Given the description of an element on the screen output the (x, y) to click on. 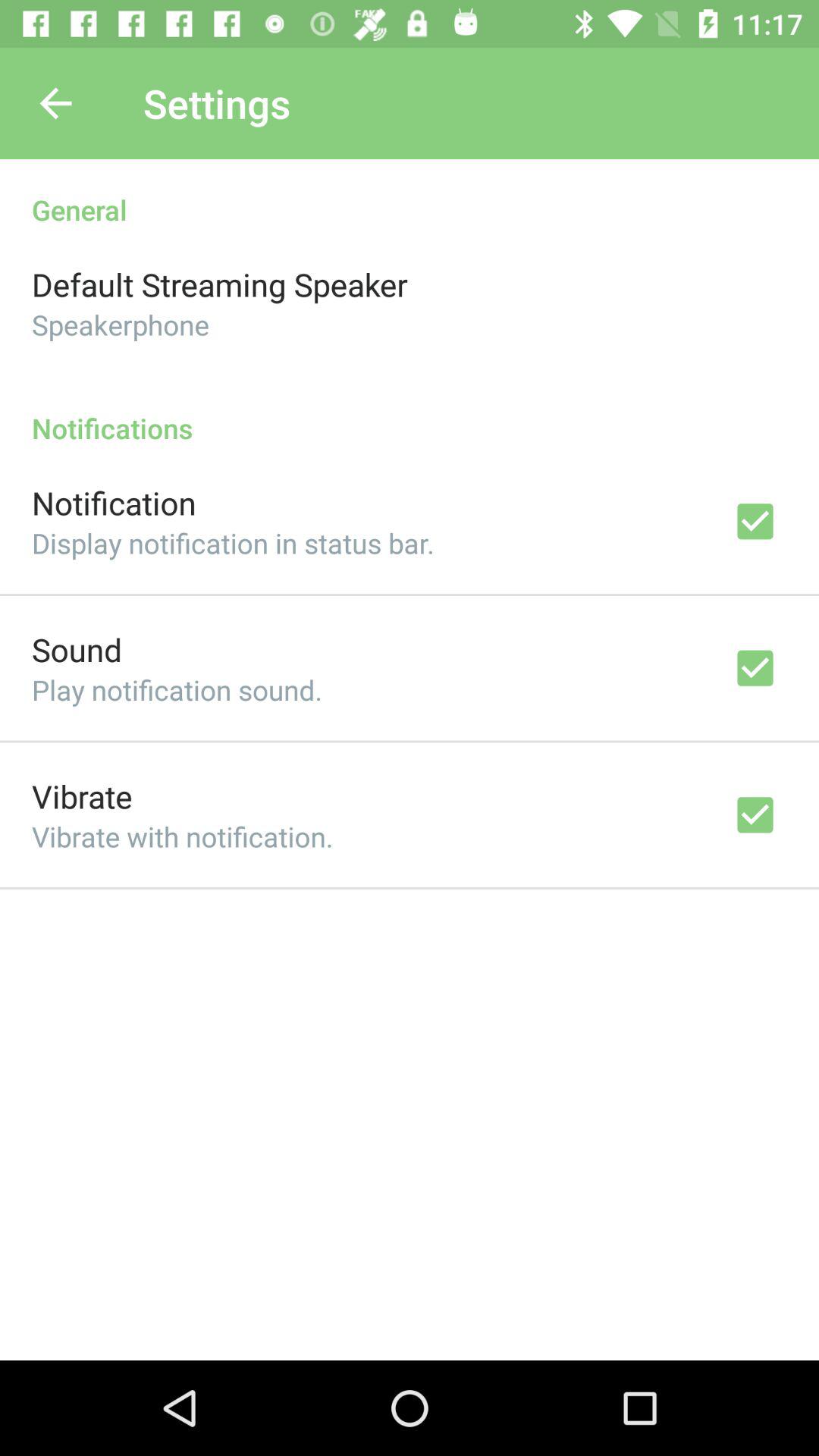
click display notification in (232, 542)
